Given the description of an element on the screen output the (x, y) to click on. 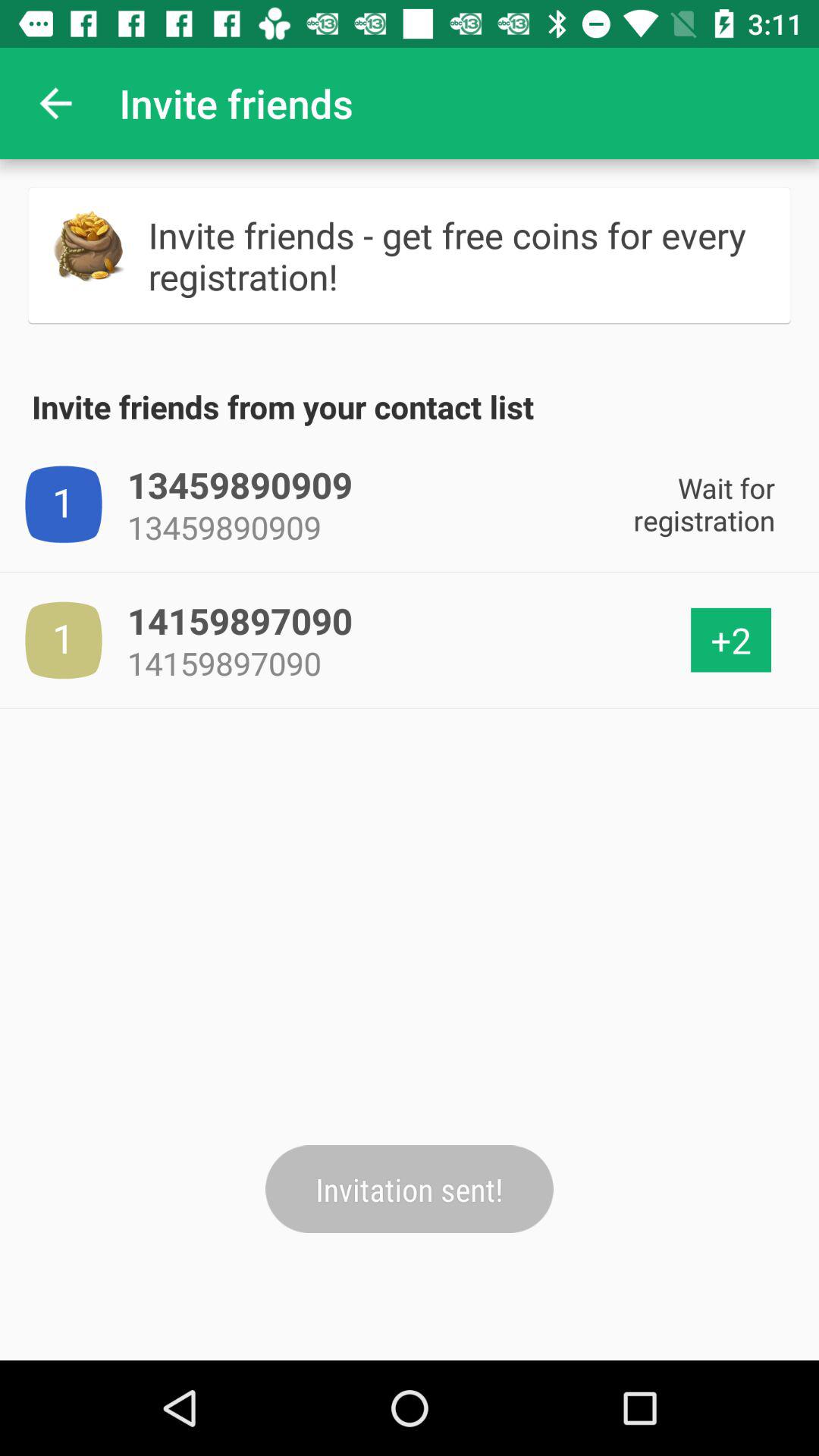
press icon next to the 14159897090 item (731, 639)
